Given the description of an element on the screen output the (x, y) to click on. 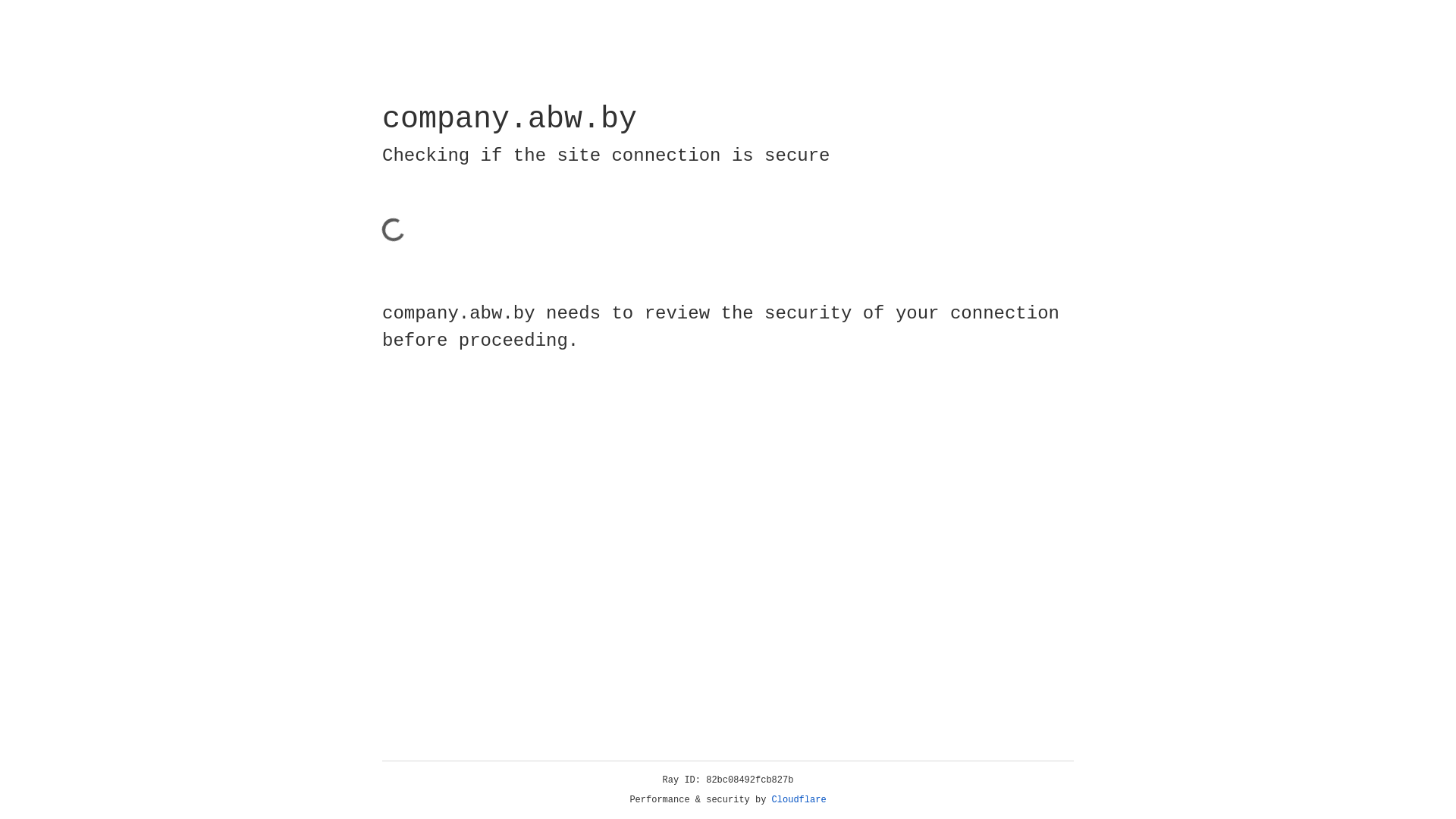
Cloudflare Element type: text (798, 799)
